Given the description of an element on the screen output the (x, y) to click on. 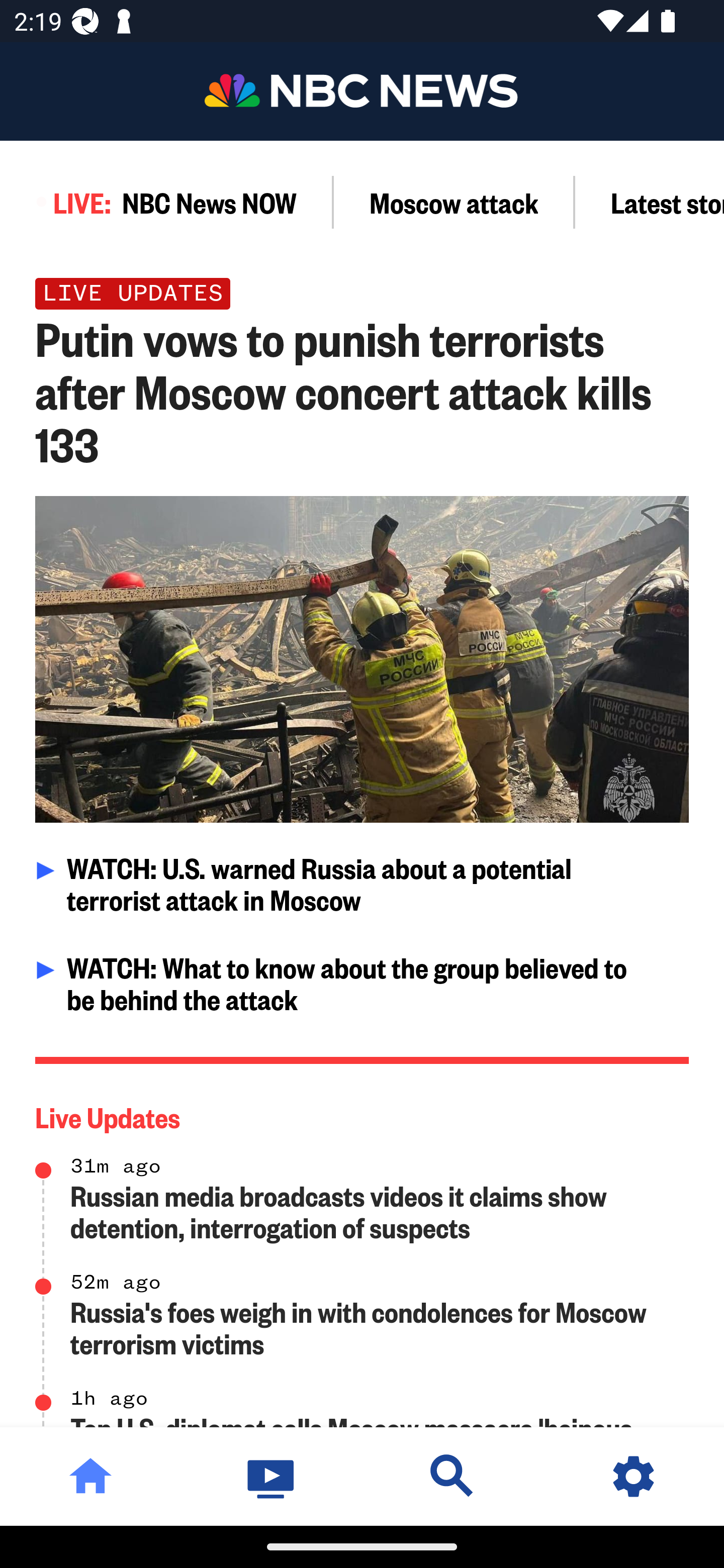
LIVE:  NBC News NOW (166, 202)
Moscow attack (453, 202)
Latest stories Section,Latest stories (649, 202)
Watch (271, 1475)
Discover (452, 1475)
Settings (633, 1475)
